Given the description of an element on the screen output the (x, y) to click on. 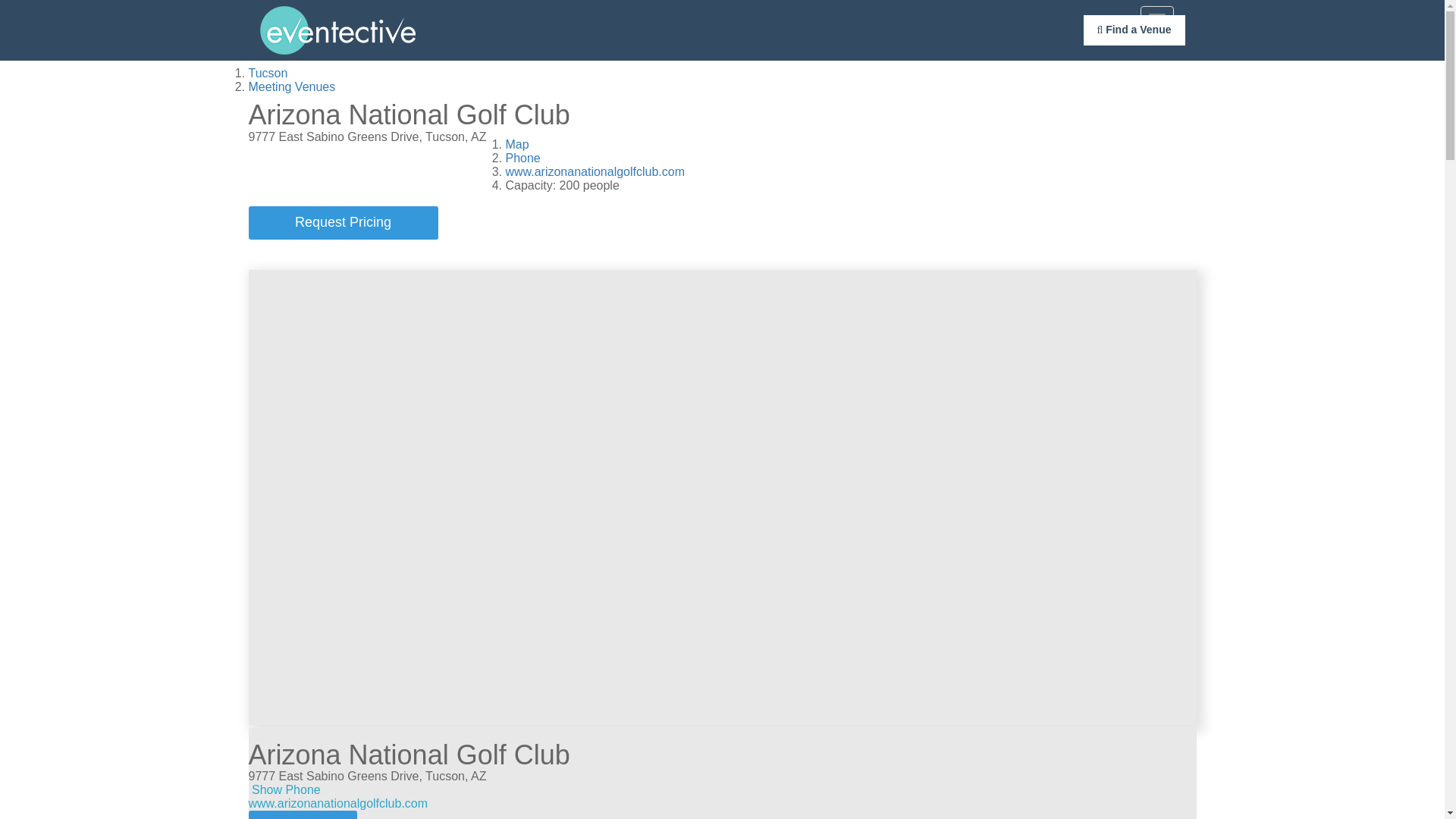
Tucson (268, 72)
Phone (522, 157)
Request Pricing (343, 222)
Request Pricing (302, 814)
Map (516, 144)
Toggle navigation (1156, 18)
Request Pricing (302, 814)
www.arizonanationalgolfclub.com (594, 171)
Request Pricing (343, 222)
www.arizonanationalgolfclub.com (338, 802)
Meeting Venues (292, 86)
Show Phone (285, 789)
Find a Venue (1134, 30)
